Given the description of an element on the screen output the (x, y) to click on. 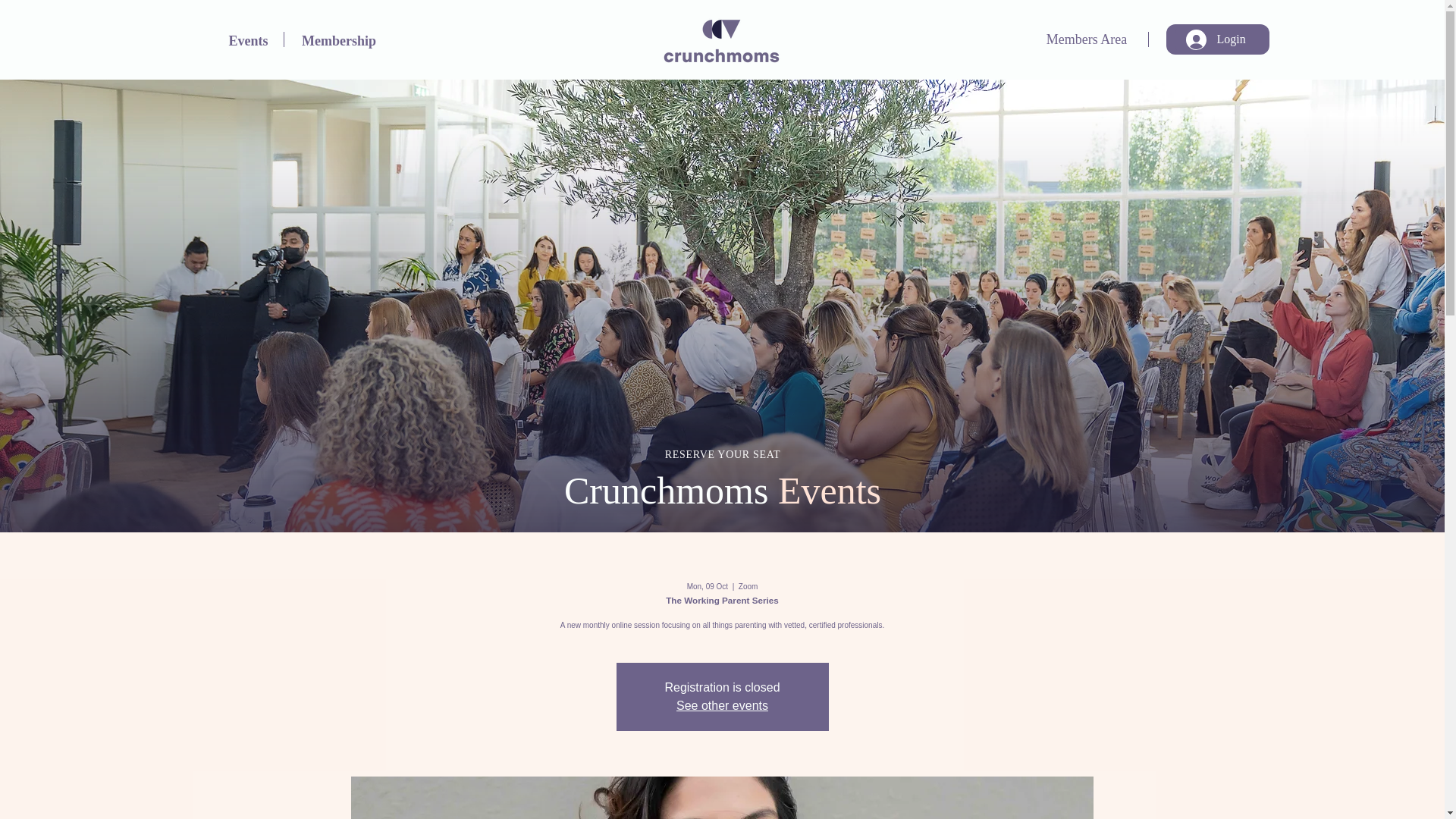
See other events (722, 705)
Members Area (1088, 38)
Events (247, 38)
Membership (339, 38)
Login (1213, 39)
